Given the description of an element on the screen output the (x, y) to click on. 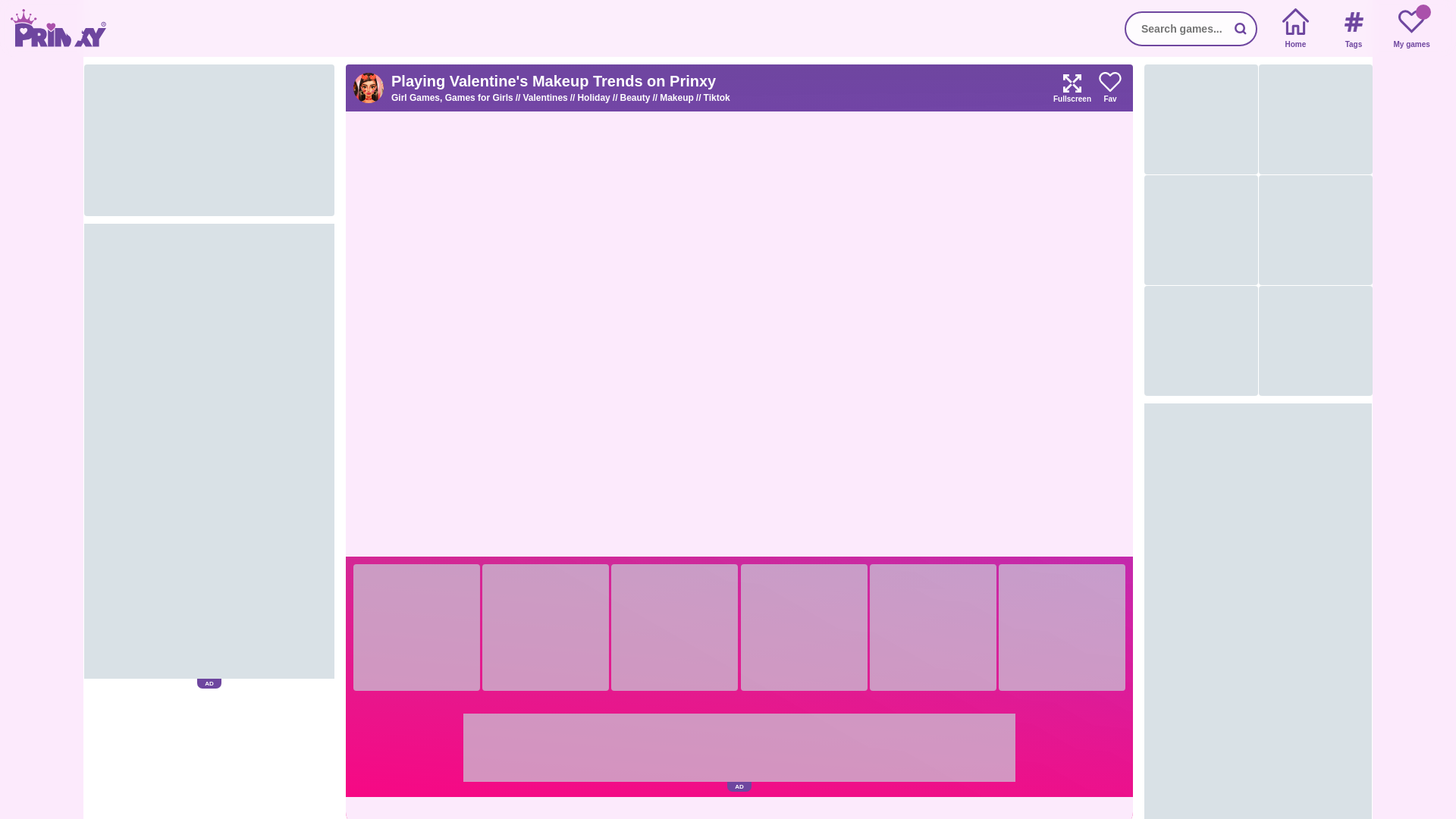
Holiday (598, 97)
Valentines (549, 97)
Tiktok (716, 97)
Home (1295, 28)
Girl Games, Games for Girls (456, 97)
My games (1411, 28)
Tags (1352, 28)
Beauty (639, 97)
Makeup (681, 97)
